Given the description of an element on the screen output the (x, y) to click on. 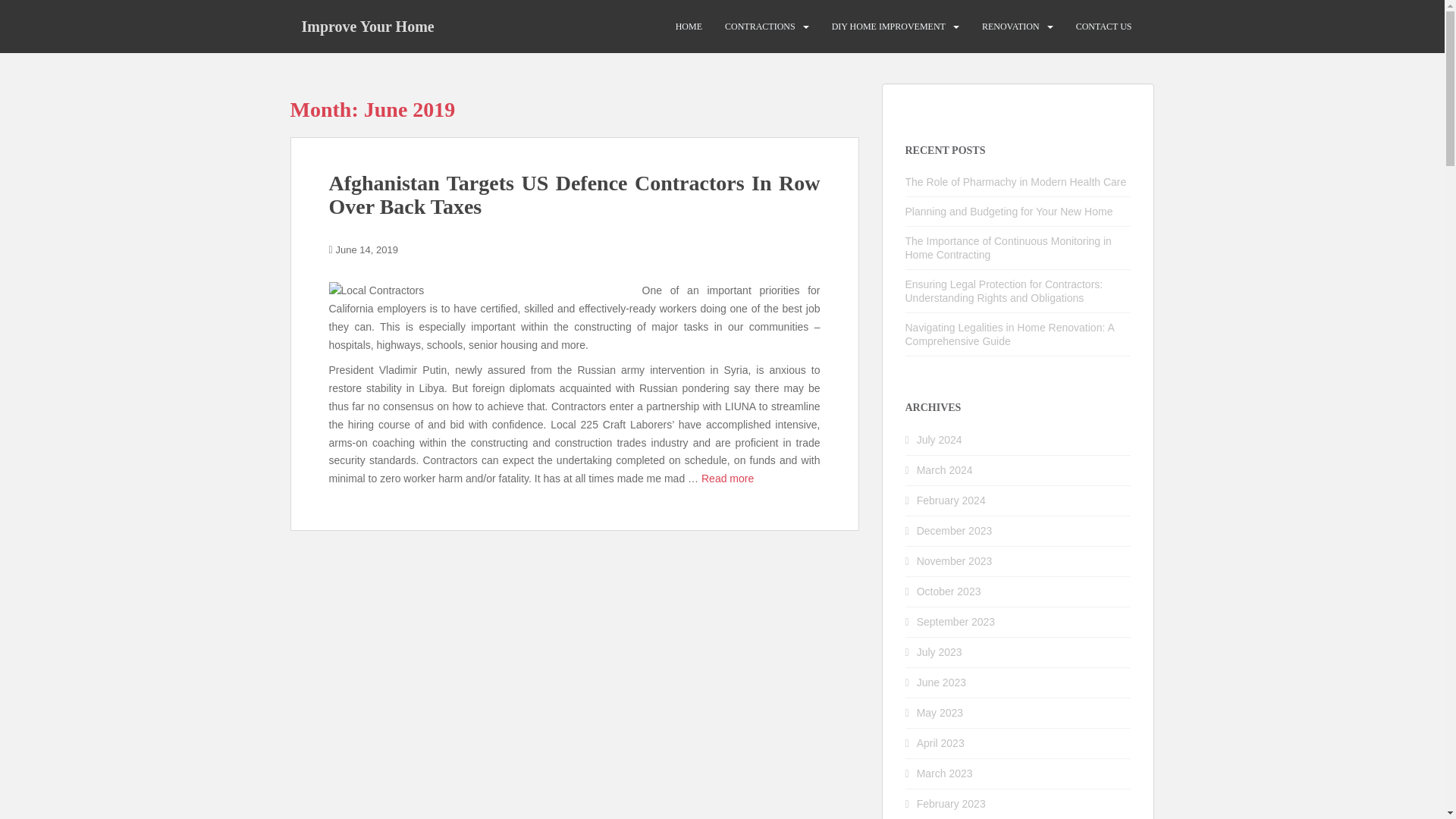
November 2023 (954, 561)
Planning and Budgeting for Your New Home (1009, 211)
The Importance of Continuous Monitoring in Home Contracting (1008, 248)
Read more (727, 478)
June 14, 2019 (366, 249)
July 2024 (939, 439)
RENOVATION (1010, 26)
CONTACT US (1103, 26)
October 2023 (949, 591)
CONTRACTIONS (759, 26)
February 2024 (951, 500)
June 2023 (941, 682)
